Given the description of an element on the screen output the (x, y) to click on. 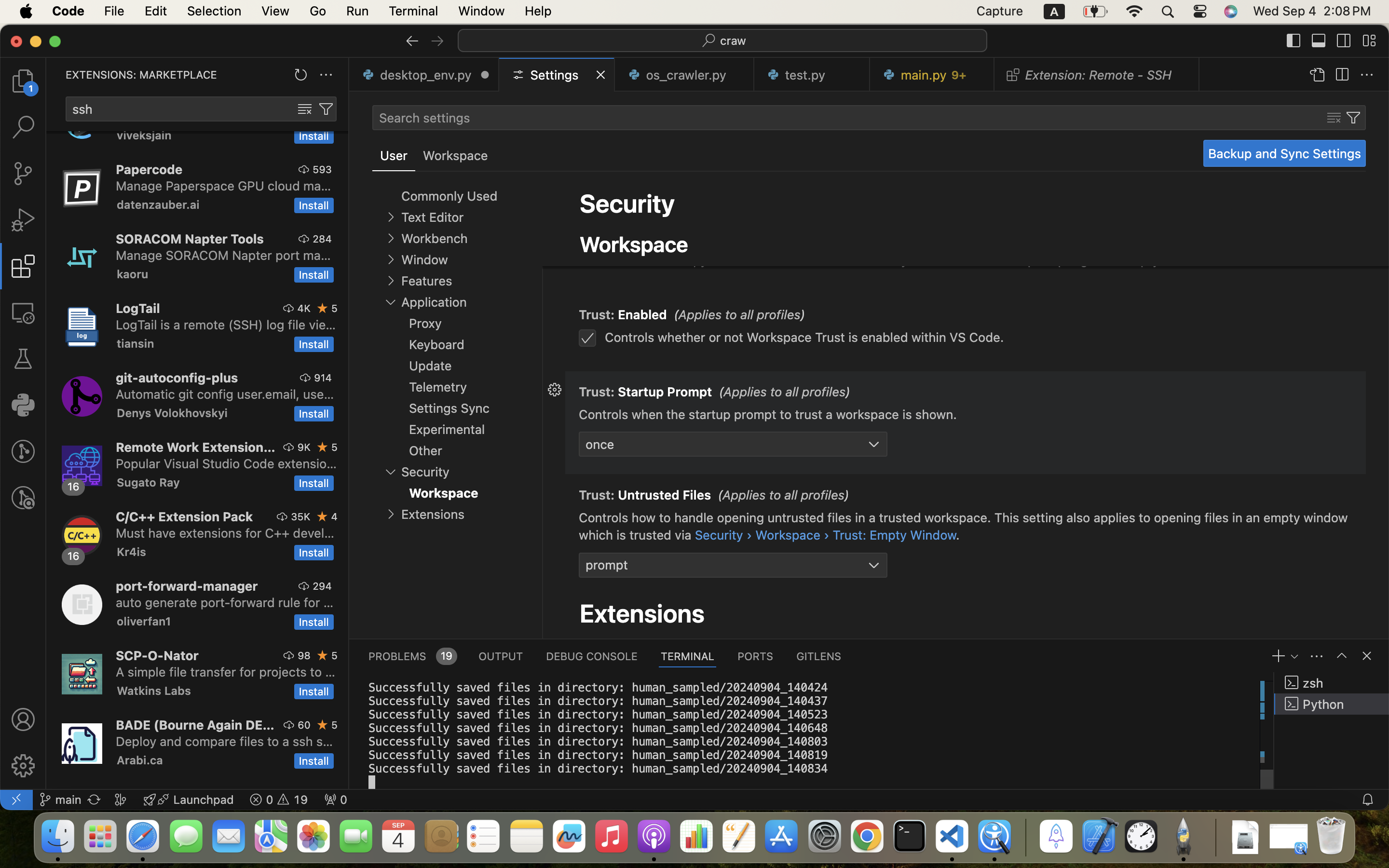
98 Element type: AXStaticText (304, 655)
 Element type: AXButton (1341, 74)
 Element type: AXGroup (23, 312)
Experimental Element type: AXStaticText (446, 429)
0 test.py   Element type: AXRadioButton (812, 74)
